Given the description of an element on the screen output the (x, y) to click on. 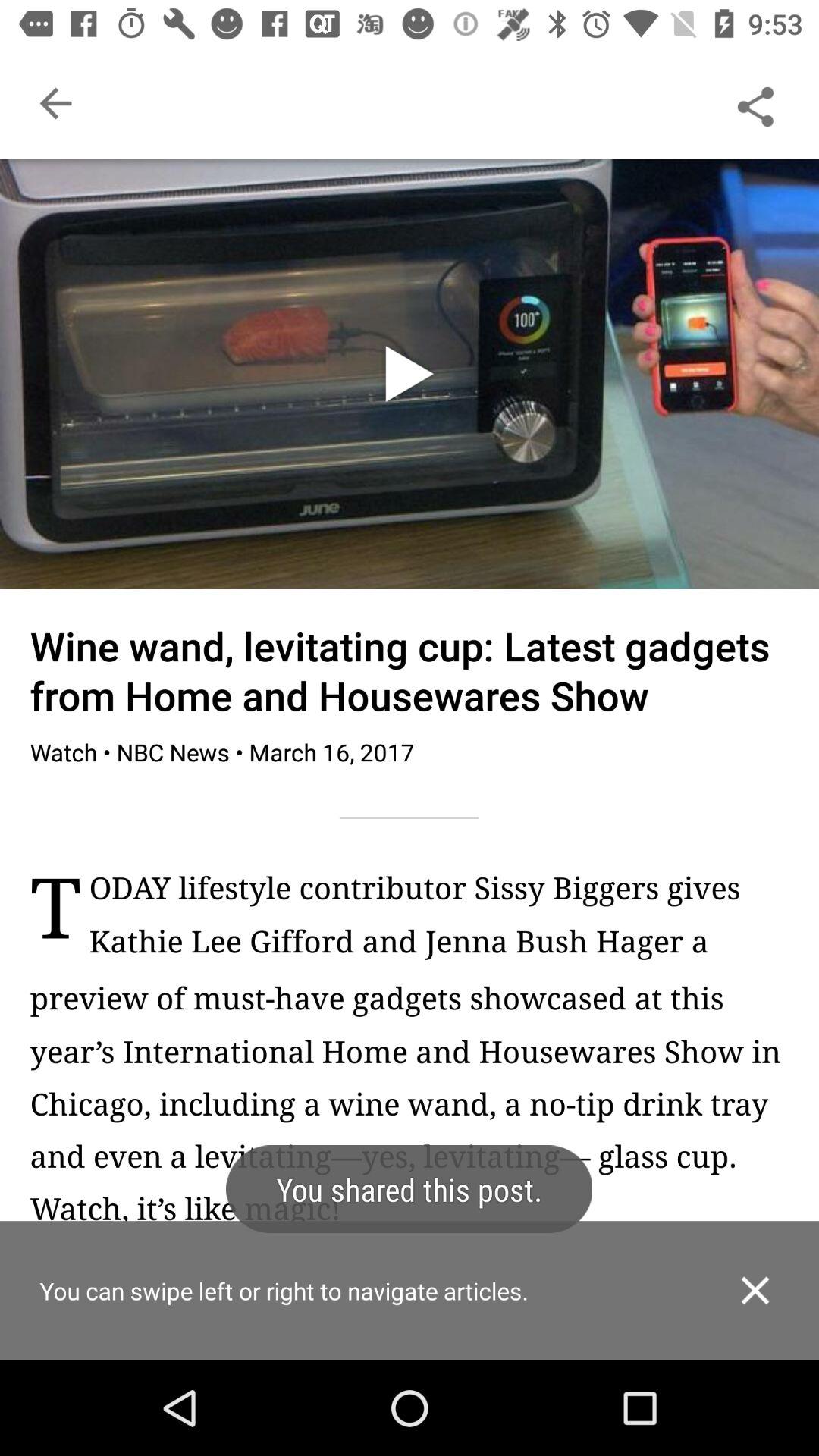
indication message (409, 1316)
